Given the description of an element on the screen output the (x, y) to click on. 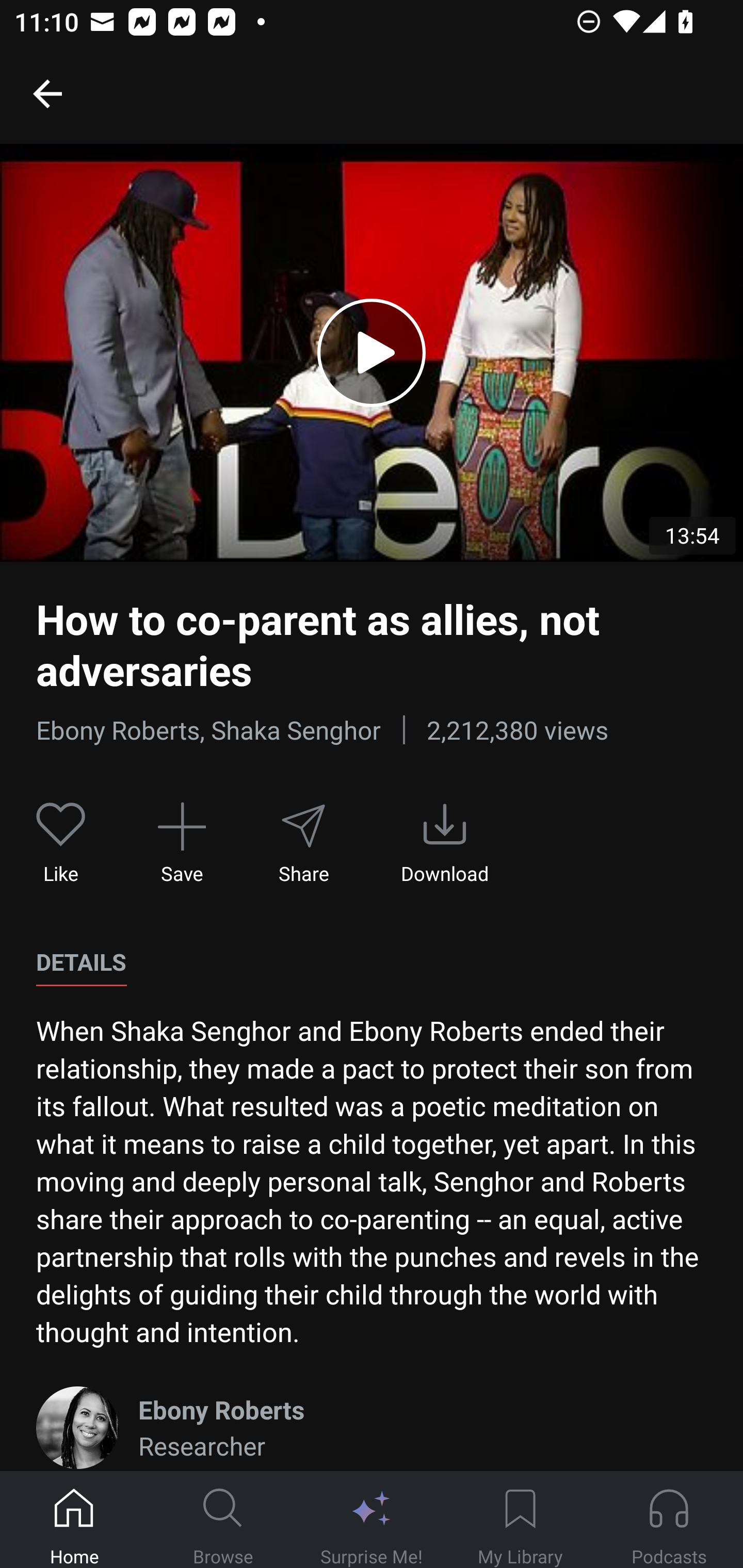
Home, back (47, 92)
Like (60, 843)
Save (181, 843)
Share (302, 843)
Download (444, 843)
DETAILS (80, 962)
Home (74, 1520)
Browse (222, 1520)
Surprise Me! (371, 1520)
My Library (519, 1520)
Podcasts (668, 1520)
